Given the description of an element on the screen output the (x, y) to click on. 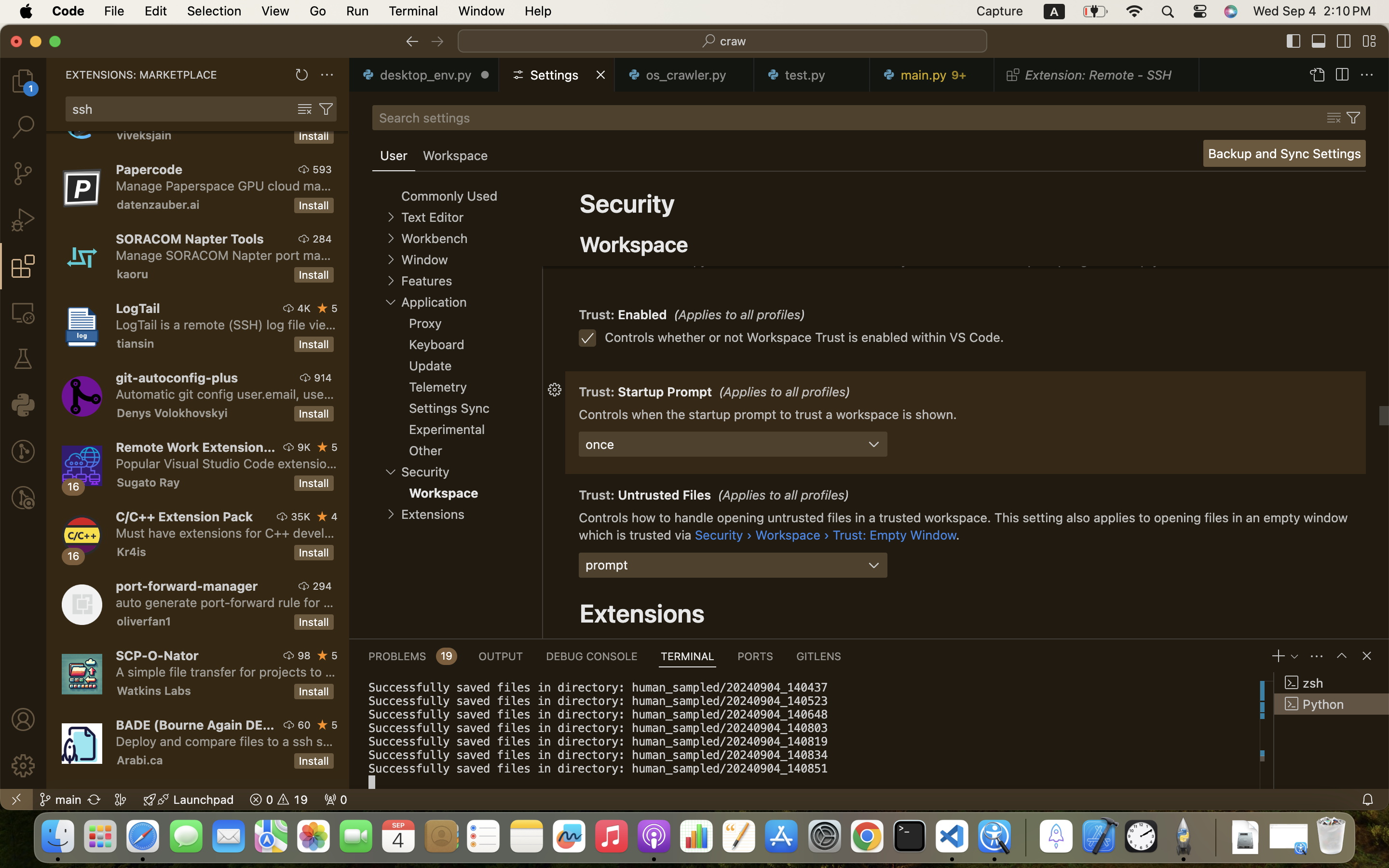
Experimental Element type: AXStaticText (446, 429)
Workbench Element type: AXStaticText (434, 238)
0  Element type: AXRadioButton (23, 127)
Empty Window Element type: AXStaticText (663, 220)
BADE (Bourne Again DEploy) Element type: AXStaticText (194, 724)
